Given the description of an element on the screen output the (x, y) to click on. 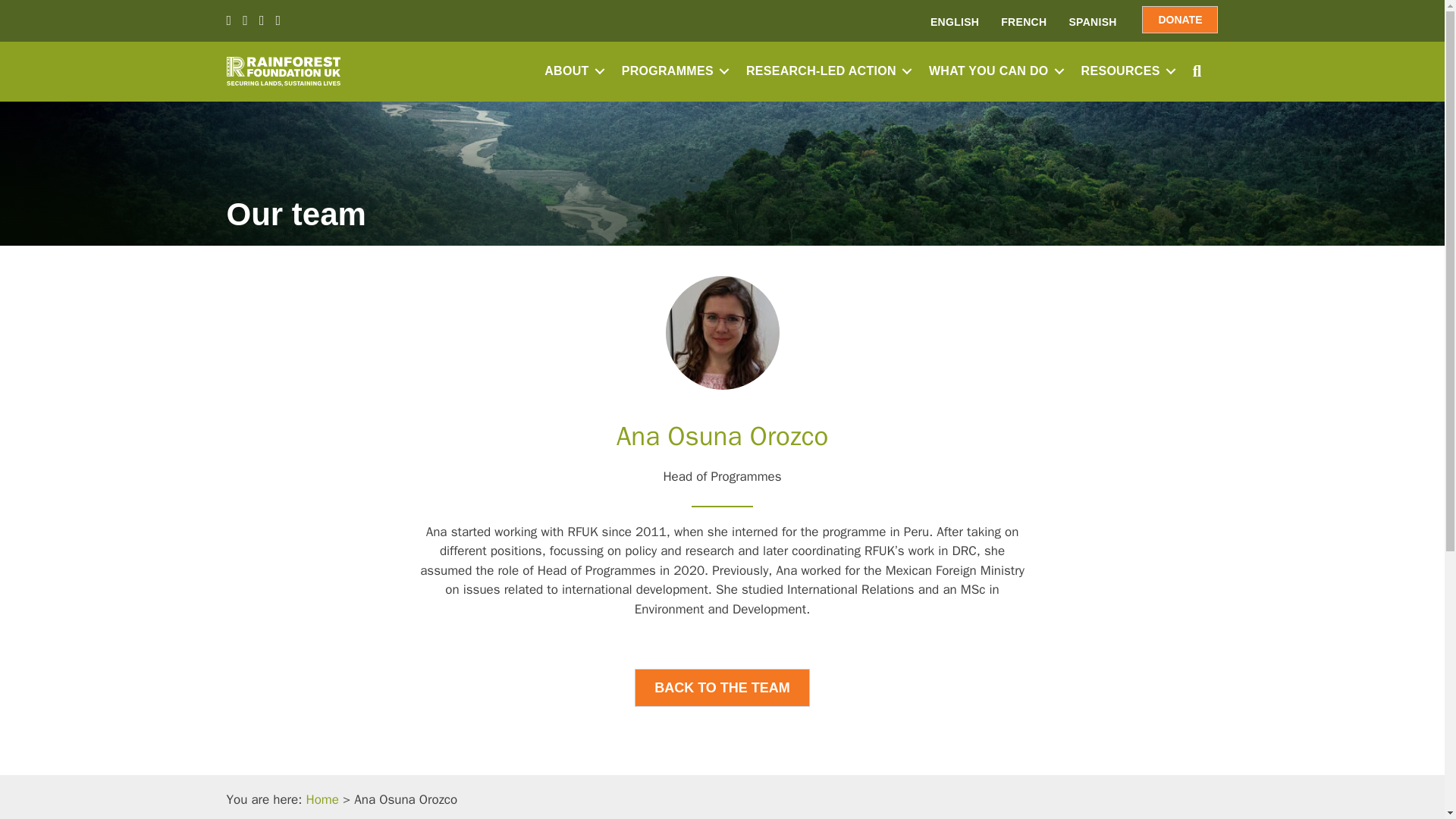
PROGRAMMES (673, 70)
ABOUT (572, 70)
SPANISH (1092, 21)
WHAT YOU CAN DO (994, 70)
FRENCH (1023, 21)
RESEARCH-LED ACTION (826, 70)
Ana Osuna Orozco (721, 332)
ENGLISH (955, 21)
DONATE (1179, 19)
RFUK-logo-white (282, 71)
